Given the description of an element on the screen output the (x, y) to click on. 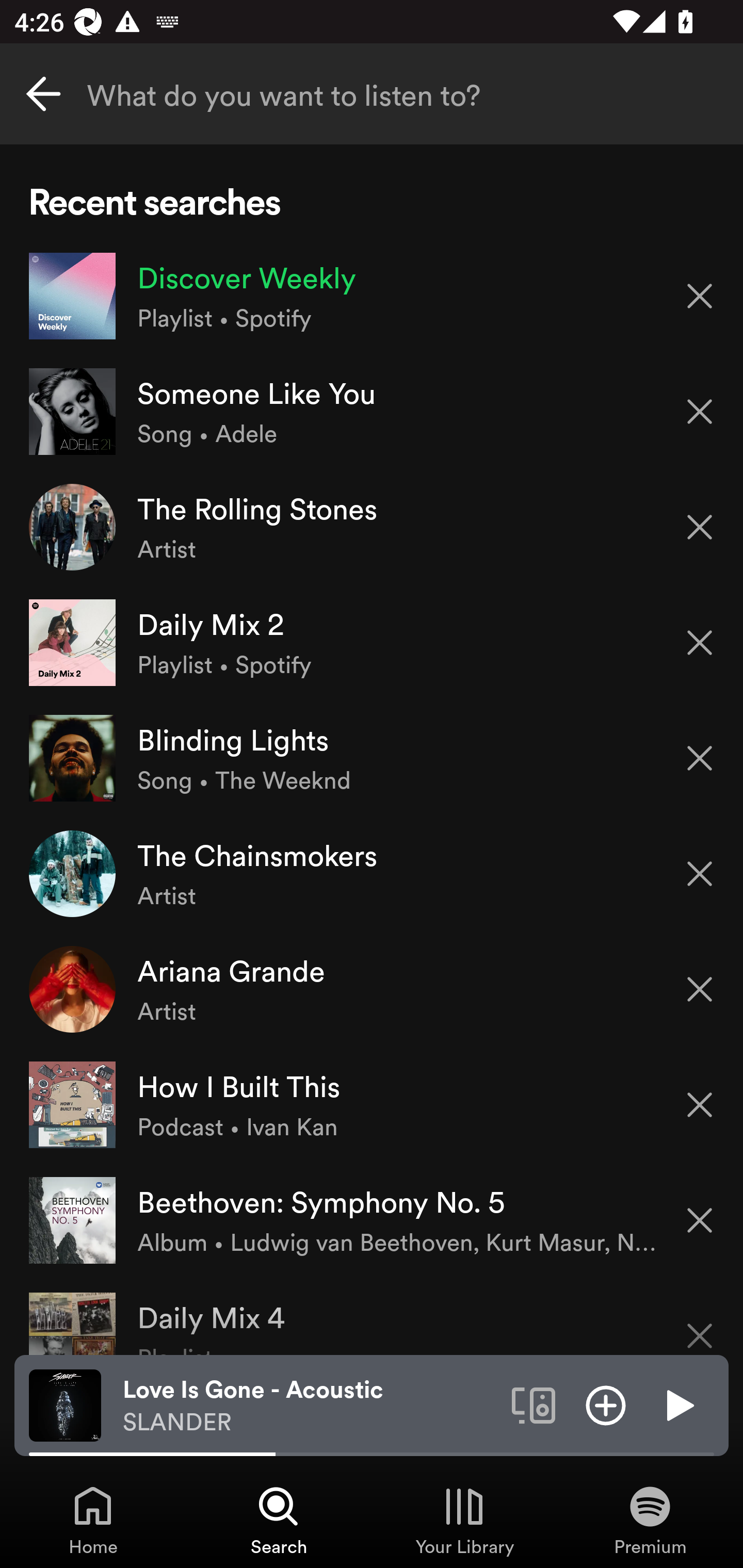
What do you want to listen to? (371, 93)
Cancel (43, 93)
Discover Weekly Playlist • Spotify Remove (371, 296)
Remove (699, 295)
Someone Like You Song • Adele Remove (371, 411)
Remove (699, 411)
The Rolling Stones Artist Remove (371, 526)
Remove (699, 527)
Daily Mix 2 Playlist • Spotify Remove (371, 642)
Remove (699, 642)
Blinding Lights Song • The Weeknd Remove (371, 757)
Remove (699, 758)
The Chainsmokers Artist Remove (371, 873)
Remove (699, 874)
Ariana Grande Artist Remove (371, 989)
Remove (699, 989)
How I Built This Podcast • Ivan Kan Remove (371, 1104)
Remove (699, 1104)
Remove (699, 1220)
Daily Mix 4 Playlist Remove (371, 1315)
Remove (699, 1323)
Love Is Gone - Acoustic SLANDER (309, 1405)
The cover art of the currently playing track (64, 1404)
Connect to a device. Opens the devices menu (533, 1404)
Add item (605, 1404)
Play (677, 1404)
Home, Tab 1 of 4 Home Home (92, 1519)
Search, Tab 2 of 4 Search Search (278, 1519)
Your Library, Tab 3 of 4 Your Library Your Library (464, 1519)
Premium, Tab 4 of 4 Premium Premium (650, 1519)
